Given the description of an element on the screen output the (x, y) to click on. 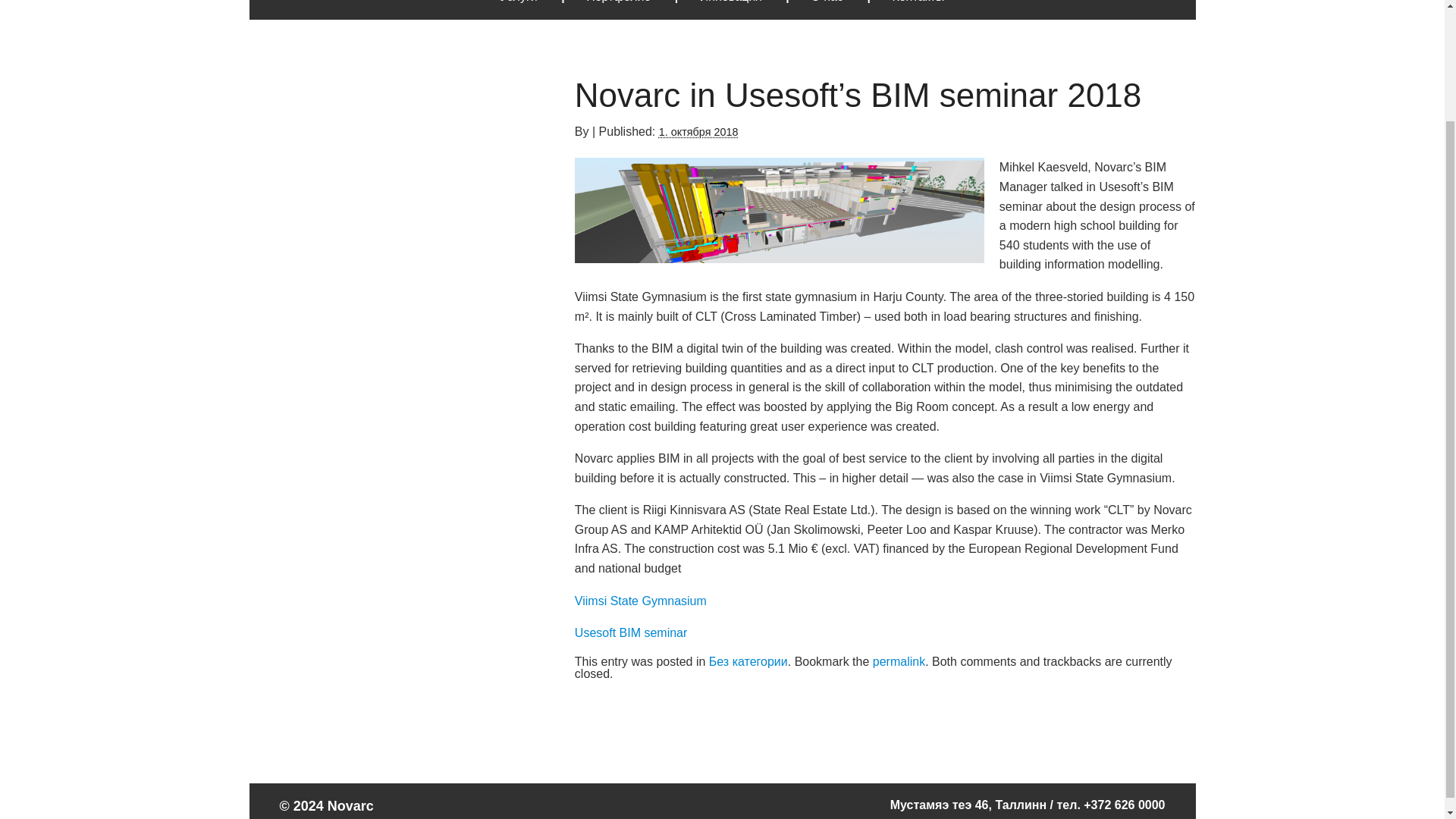
Viimsi State Gymnasium (640, 600)
permalink (898, 661)
Usesoft BIM seminar (631, 632)
